Given the description of an element on the screen output the (x, y) to click on. 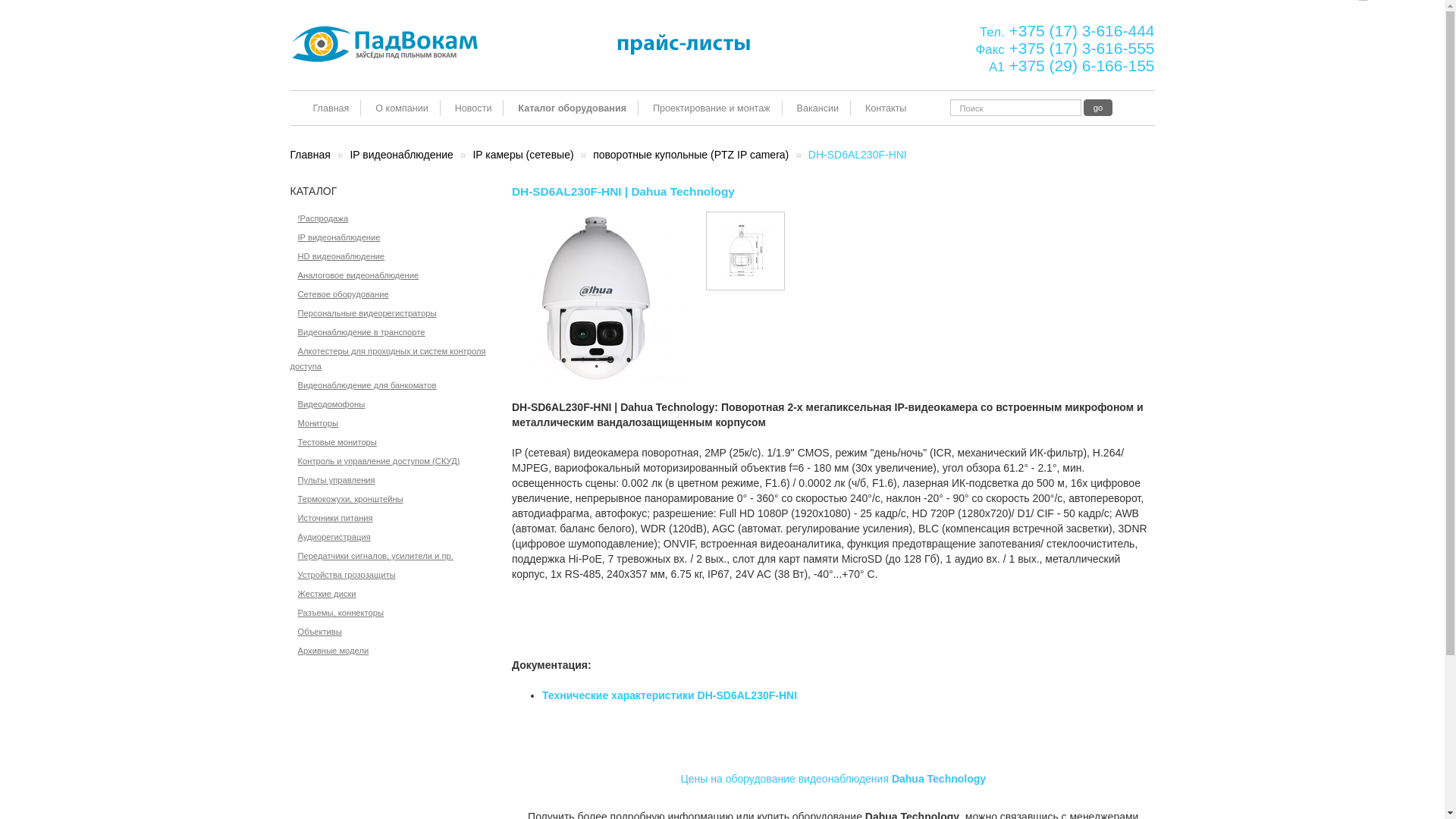
DH-SD6AL230F-HNI Element type: hover (597, 297)
DH-SD6AL230F-HNI Element type: hover (745, 250)
DH-SD6AL230F-HNI Element type: hover (745, 250)
DH-SD6AL230F-HNI Element type: hover (597, 297)
go Element type: text (1097, 107)
